Given the description of an element on the screen output the (x, y) to click on. 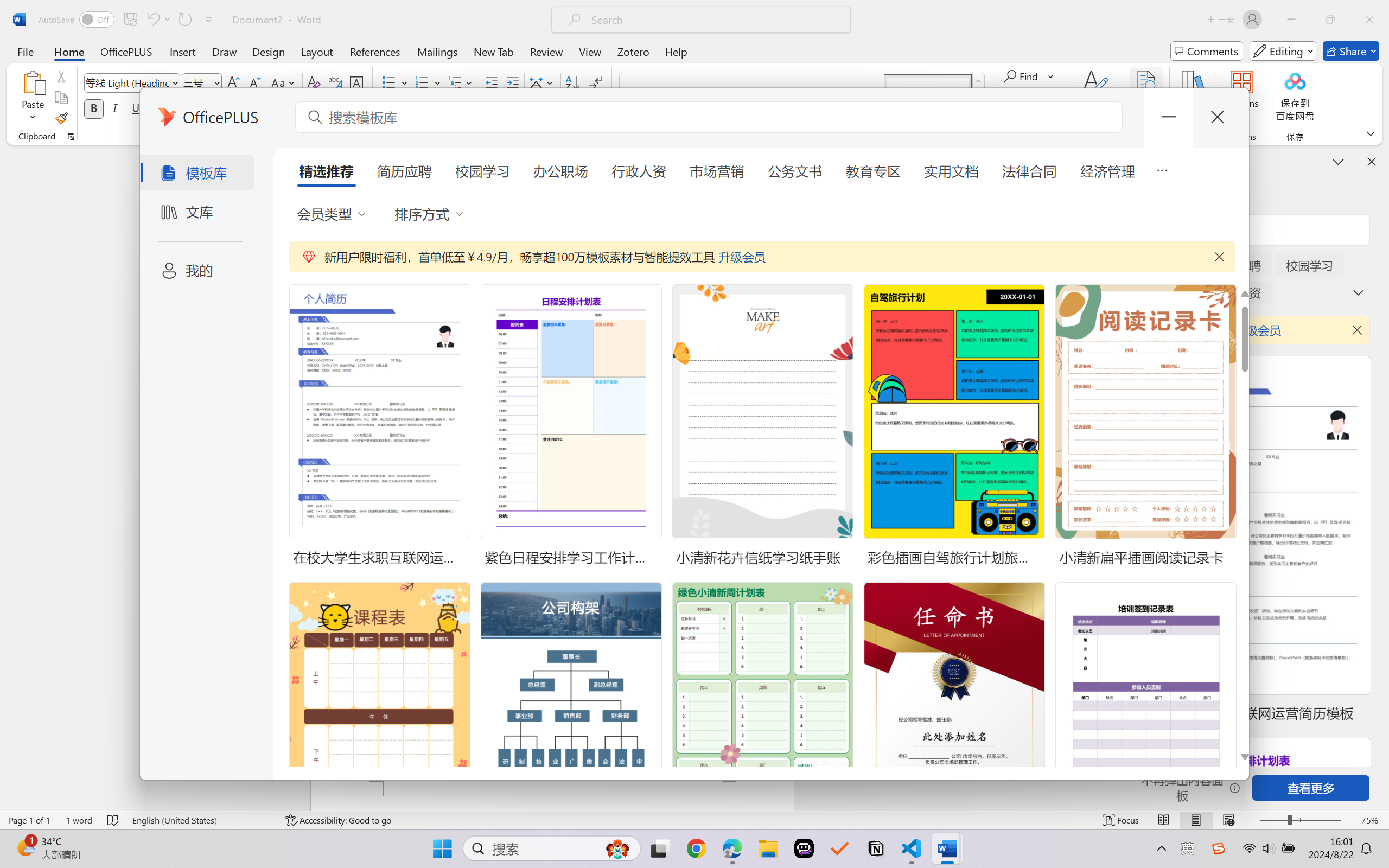
Find (1029, 75)
Paste (33, 81)
Page Number Page 1 of 1 (29, 819)
Help (675, 51)
